Given the description of an element on the screen output the (x, y) to click on. 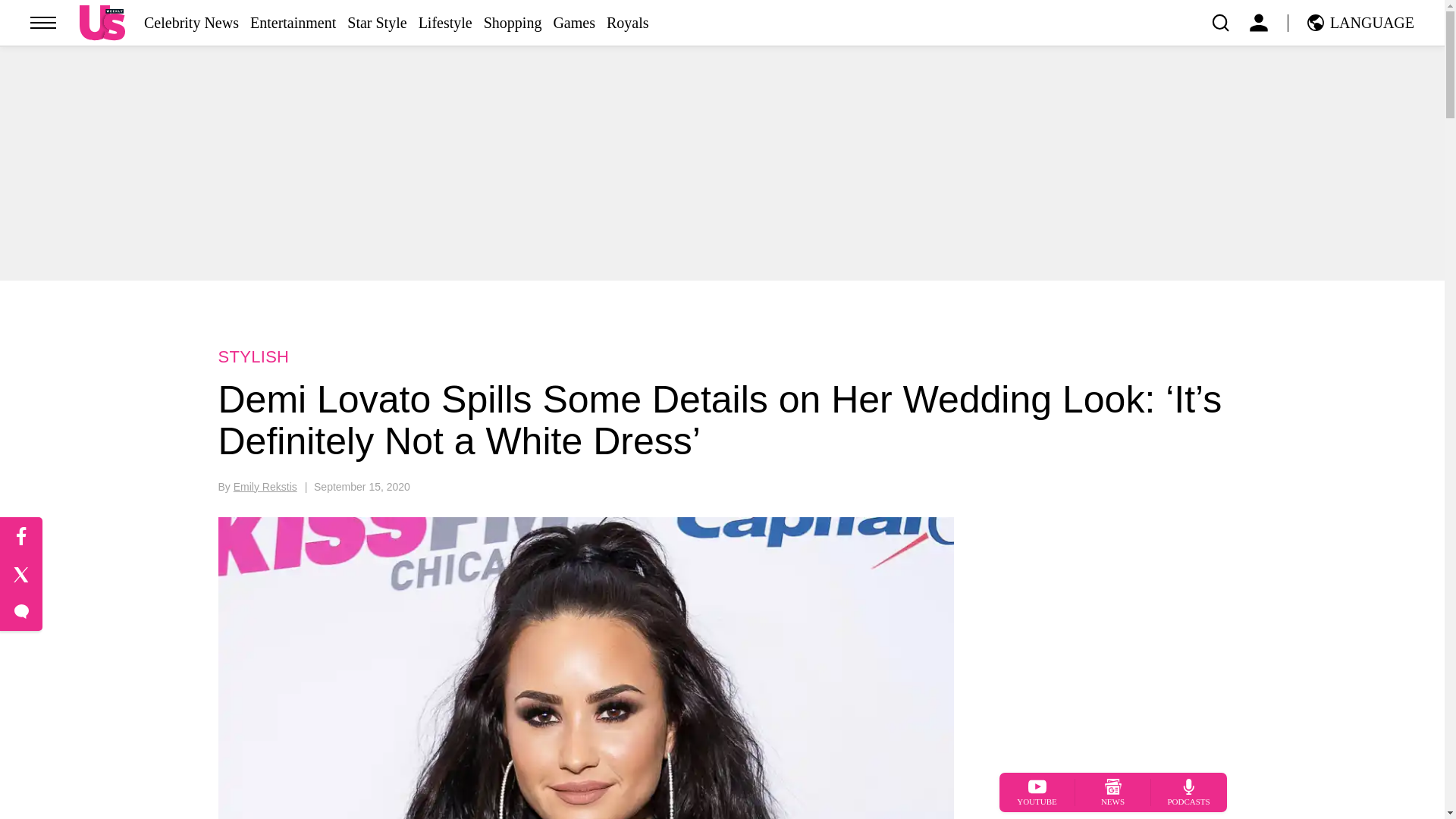
Click to share on Facebook (21, 536)
Celebrity News (191, 22)
Click to share on Twitter (21, 574)
Entertainment (293, 22)
Lifestyle (445, 22)
Us Weekly Magazine (102, 22)
Games (574, 22)
Shopping (512, 22)
Posts by Emily Rekstis (264, 486)
Star Style (376, 22)
